Given the description of an element on the screen output the (x, y) to click on. 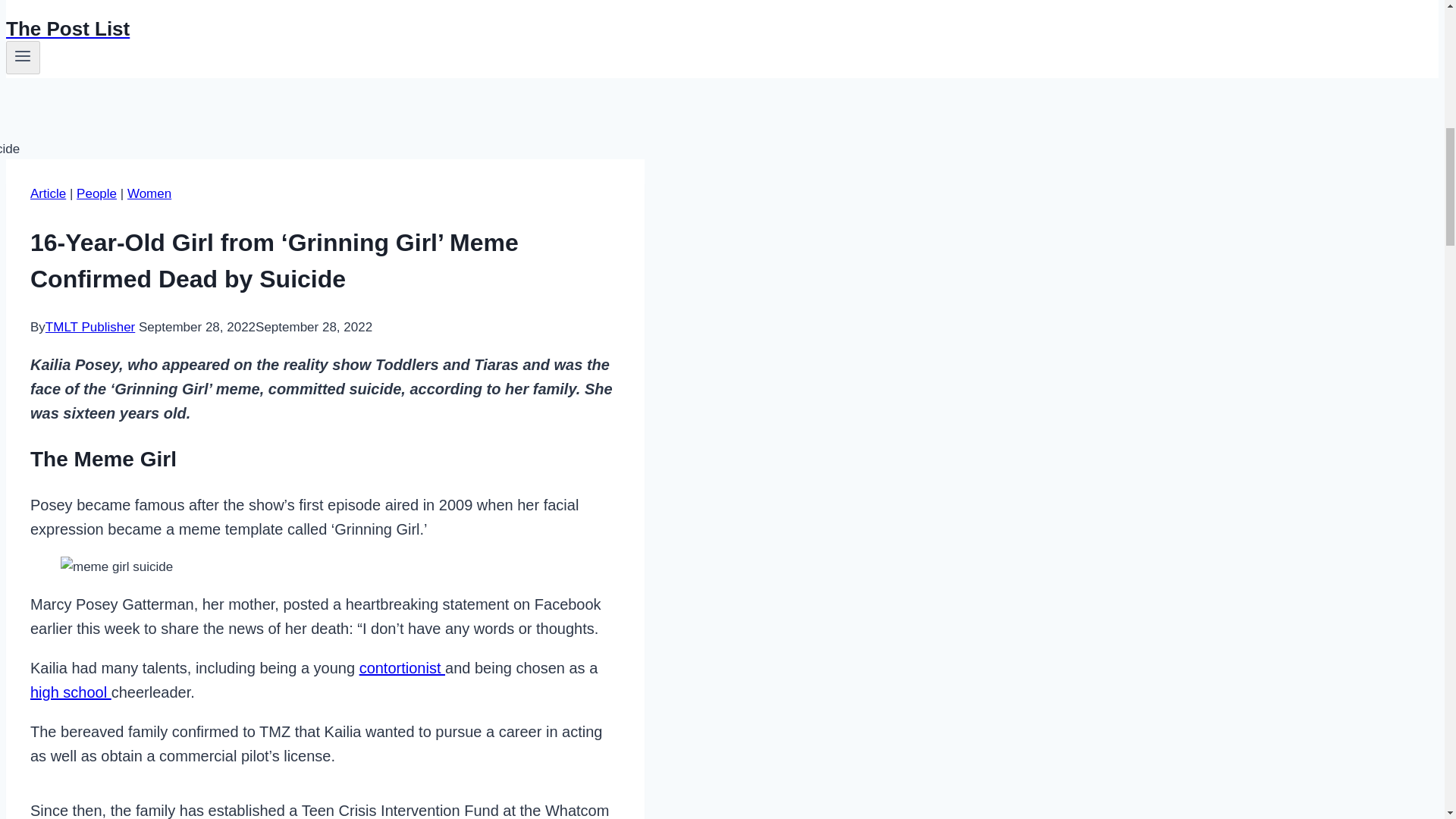
The Post List (494, 28)
Women (149, 193)
Toggle Menu (22, 55)
Article (47, 193)
People (96, 193)
high school (71, 692)
TMLT Publisher (90, 327)
contortionist (402, 668)
Toggle Menu (22, 57)
Privacy Policy (84, 4)
